Given the description of an element on the screen output the (x, y) to click on. 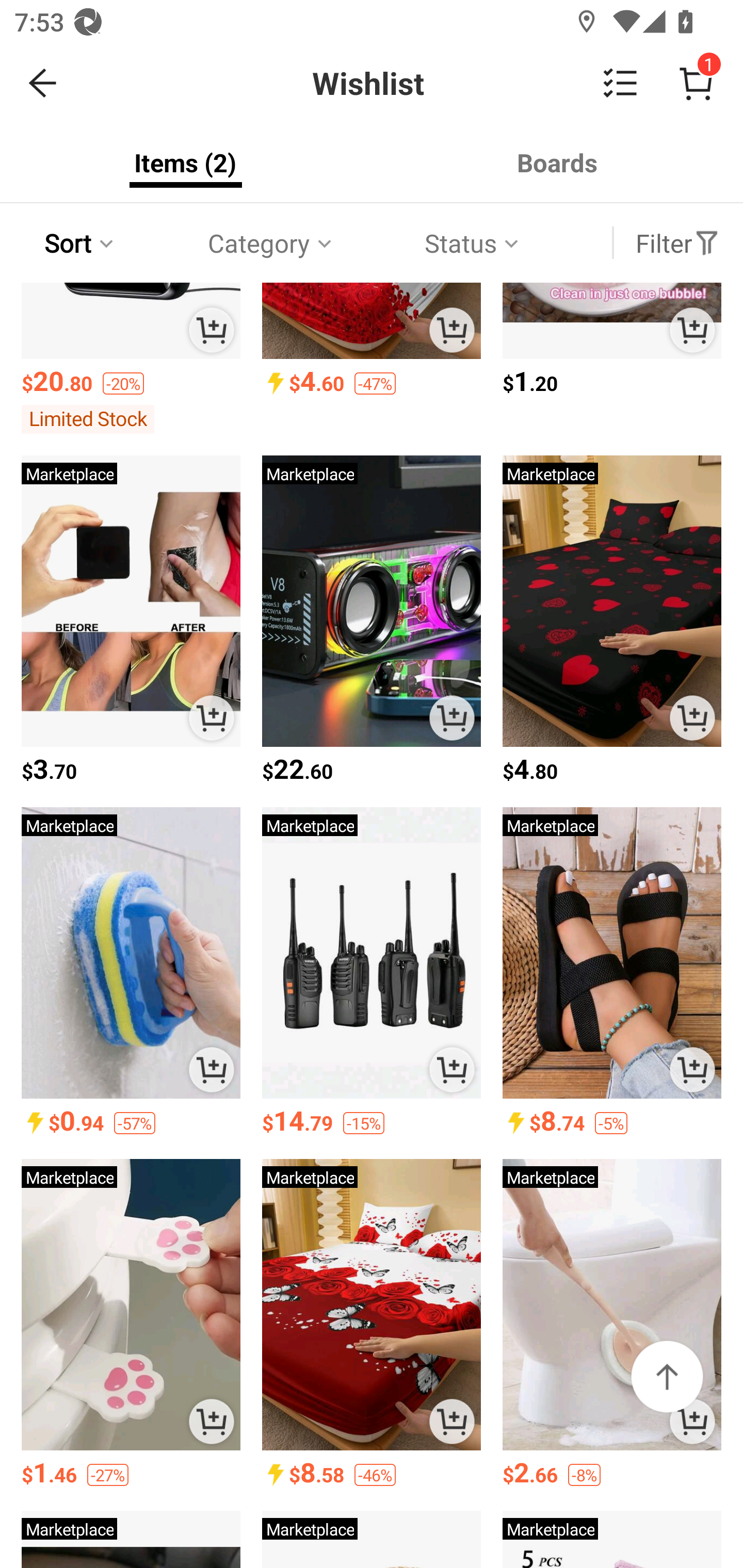
Wishlist change view 1 (414, 82)
1 (695, 82)
change view (620, 82)
BACK (43, 83)
Items (2) (185, 162)
Boards (557, 162)
Sort (80, 242)
Category (271, 242)
Status (473, 242)
Filter (677, 242)
ADD TO CART (211, 330)
ADD TO CART (451, 330)
ADD TO CART (692, 330)
ADD TO CART (211, 717)
ADD TO CART (451, 717)
ADD TO CART (692, 717)
ADD TO CART (211, 1070)
ADD TO CART (451, 1070)
ADD TO CART (692, 1070)
Back to top (666, 1376)
ADD TO CART (211, 1421)
ADD TO CART (451, 1421)
ADD TO CART (692, 1421)
